Given the description of an element on the screen output the (x, y) to click on. 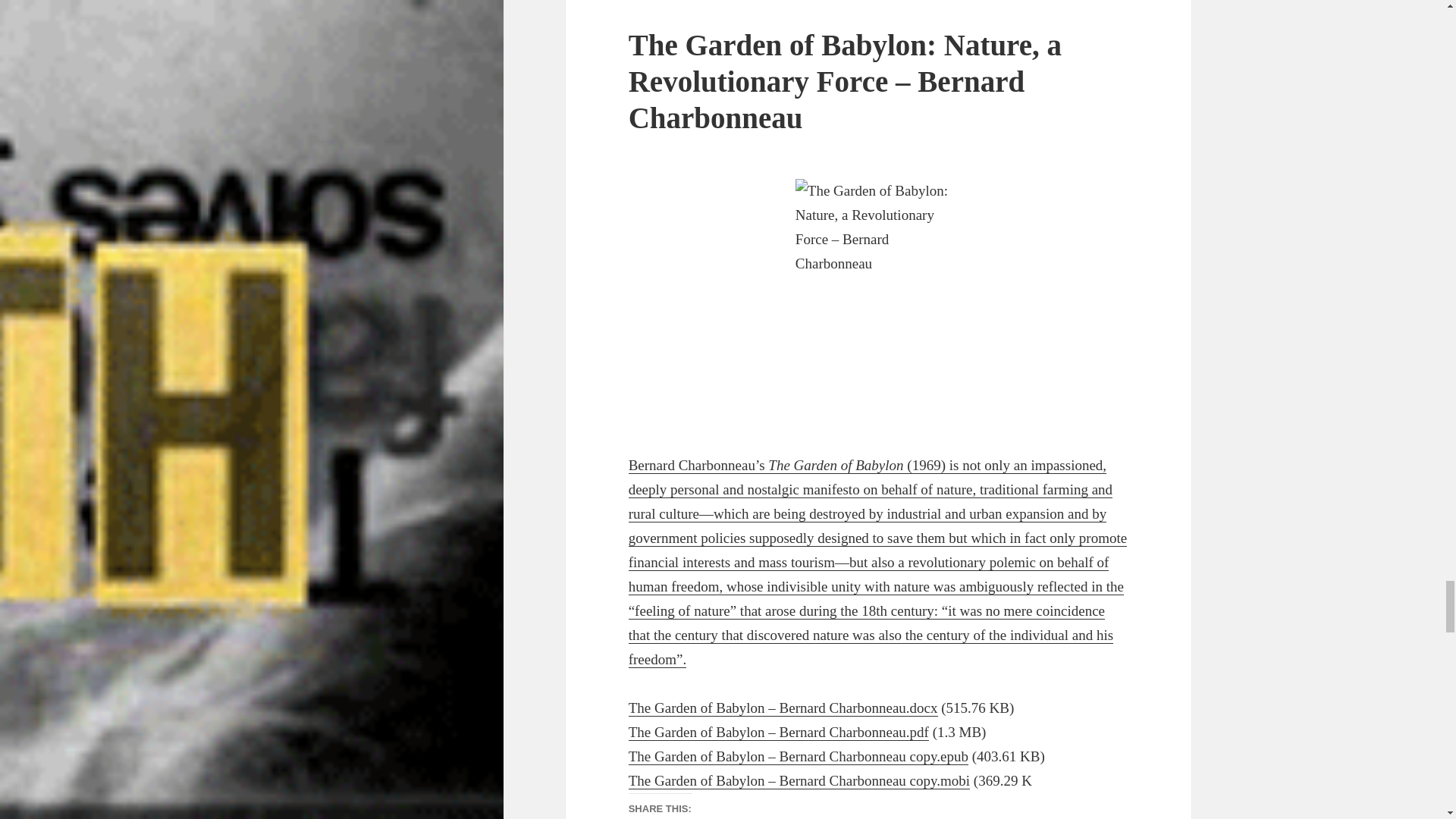
The Garden of Babylon - Bernard Charbonneau.pdf (778, 732)
The Garden of Babylon - Bernard Charbonneau.docx (782, 708)
